Given the description of an element on the screen output the (x, y) to click on. 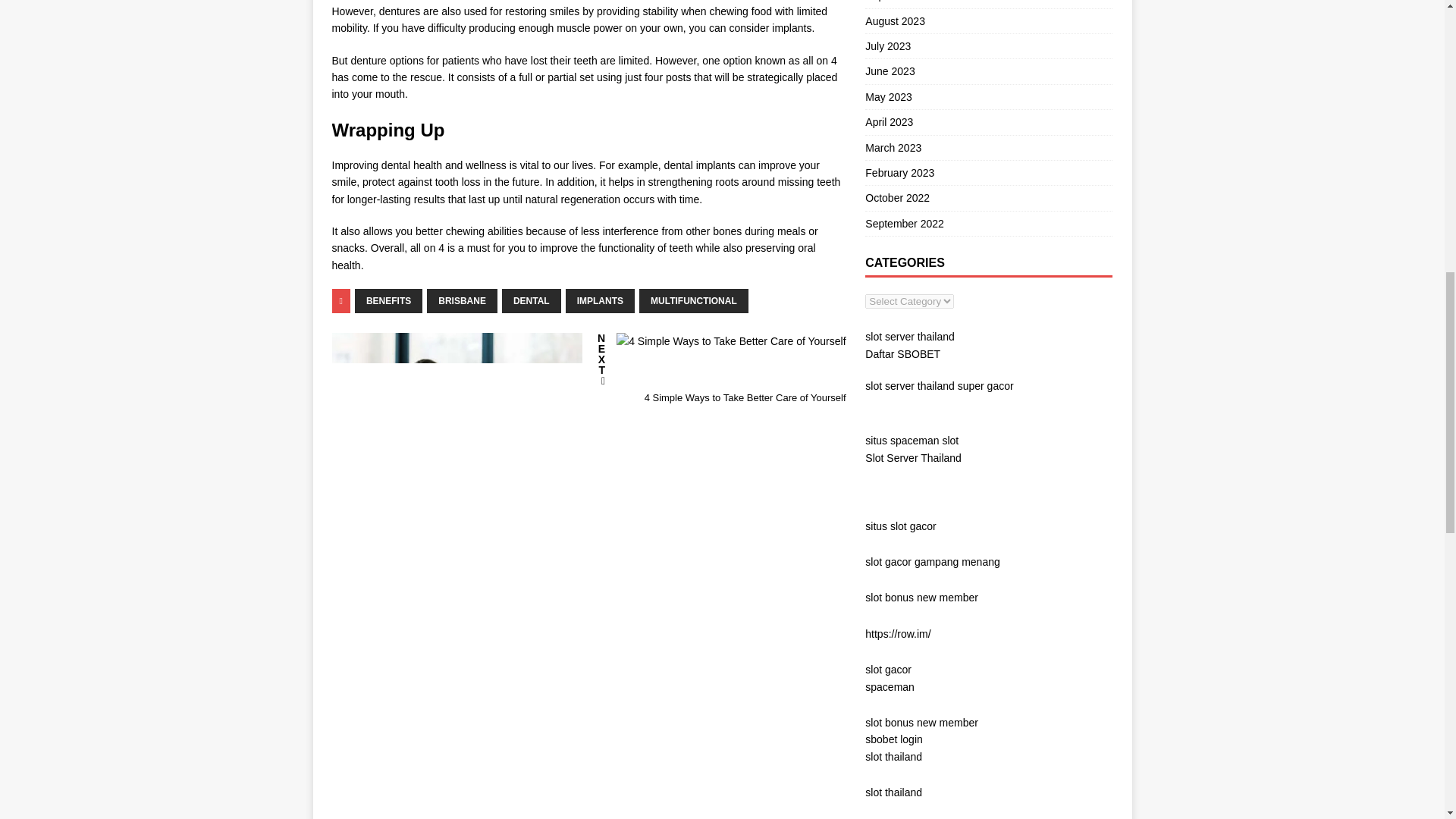
4 Simple Ways to Take Better Care of Yourself (730, 340)
BENEFITS (388, 300)
BRISBANE (720, 369)
MULTIFUNCTIONAL (461, 300)
DENTAL (693, 300)
IMPLANTS (531, 300)
